Given the description of an element on the screen output the (x, y) to click on. 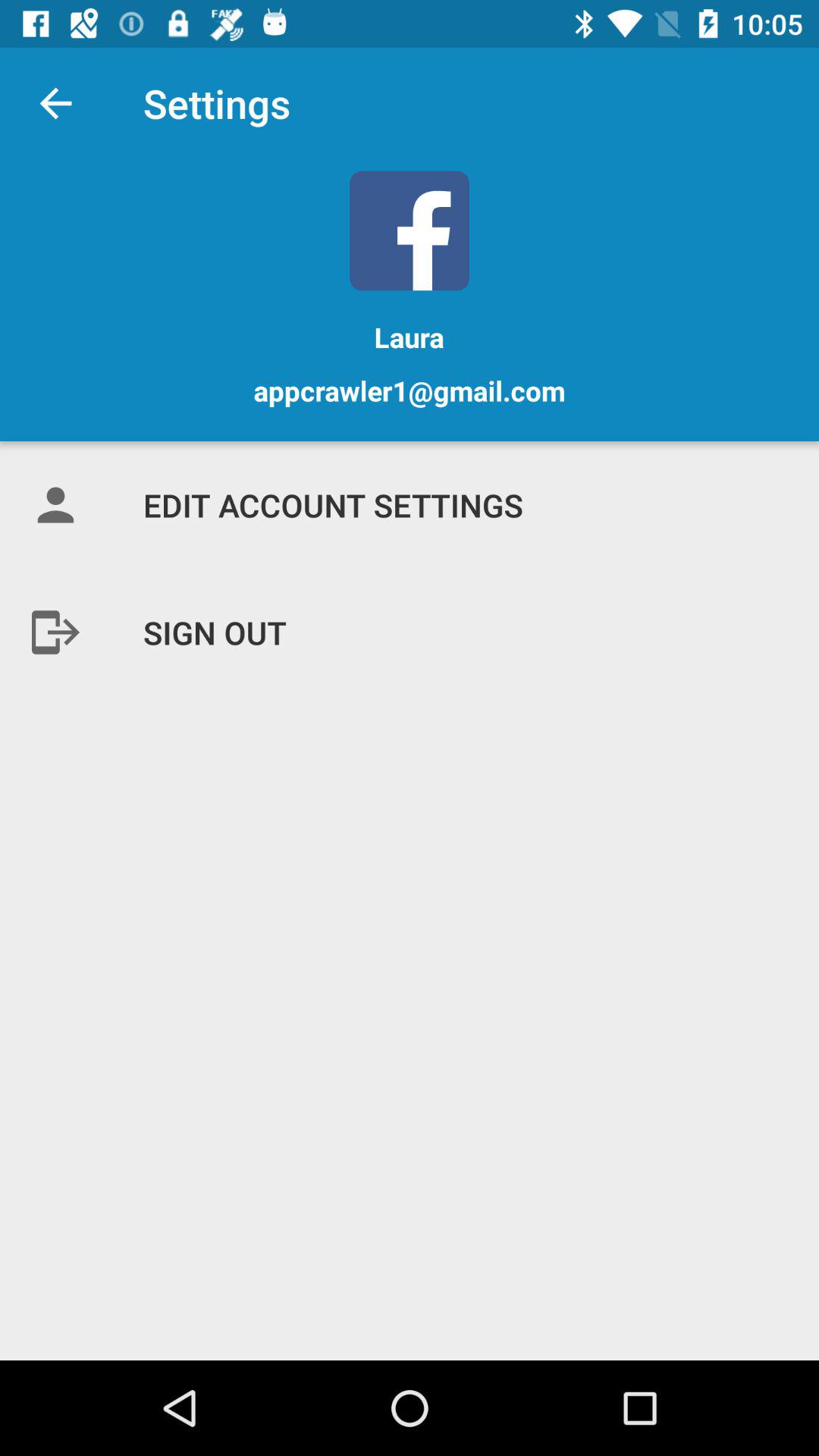
turn on the icon to the left of the settings item (55, 103)
